Given the description of an element on the screen output the (x, y) to click on. 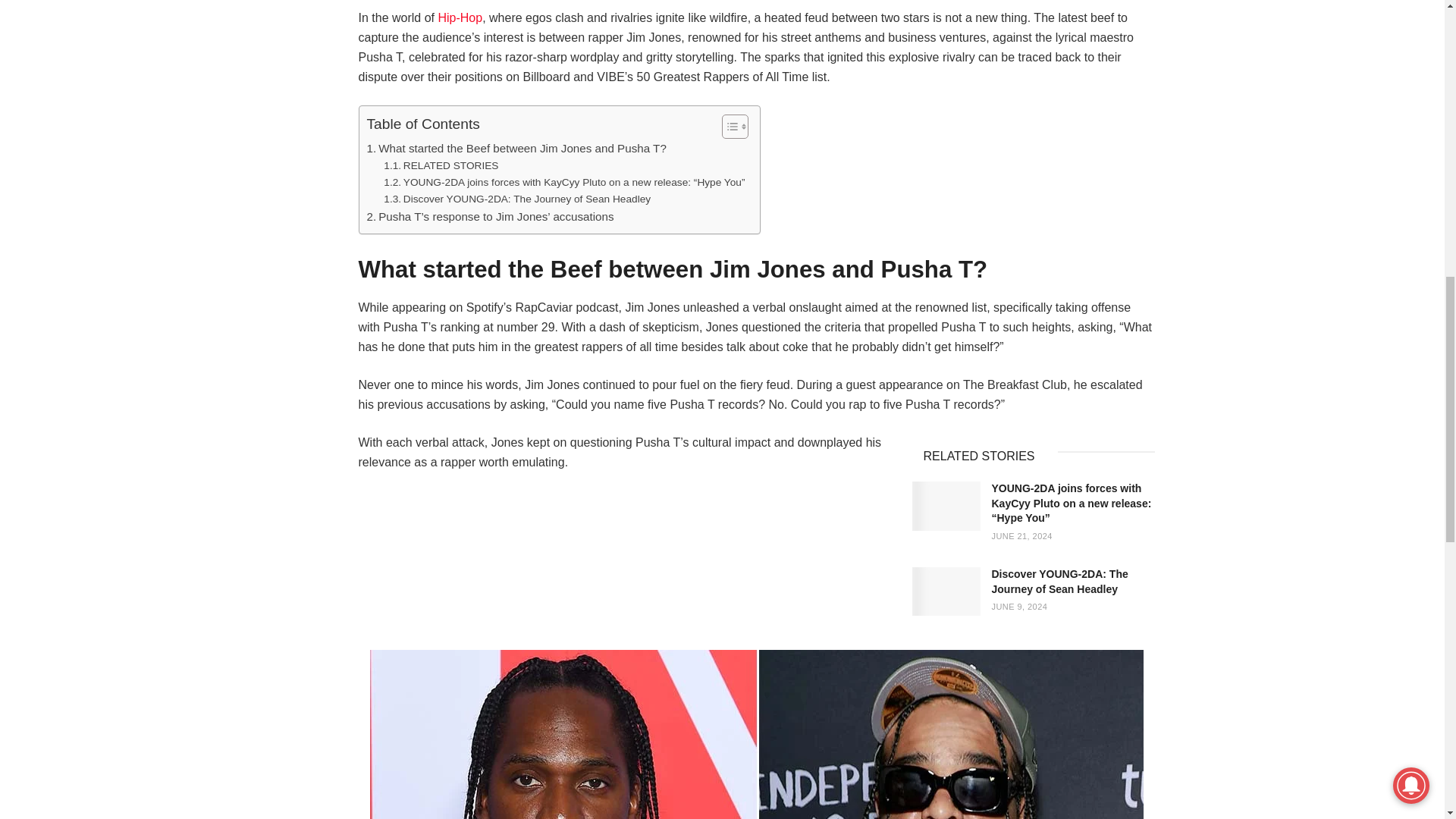
Hip-Hop (459, 17)
What started the Beef between Jim Jones and Pusha T? (516, 148)
Discover YOUNG-2DA: The Journey of Sean Headley (517, 199)
Discover YOUNG-2DA: The Journey of Sean Headley (517, 199)
RELATED STORIES (440, 166)
RELATED STORIES (440, 166)
What started the Beef between Jim Jones and Pusha T? (516, 148)
JUNE 21, 2024 (1021, 535)
